Given the description of an element on the screen output the (x, y) to click on. 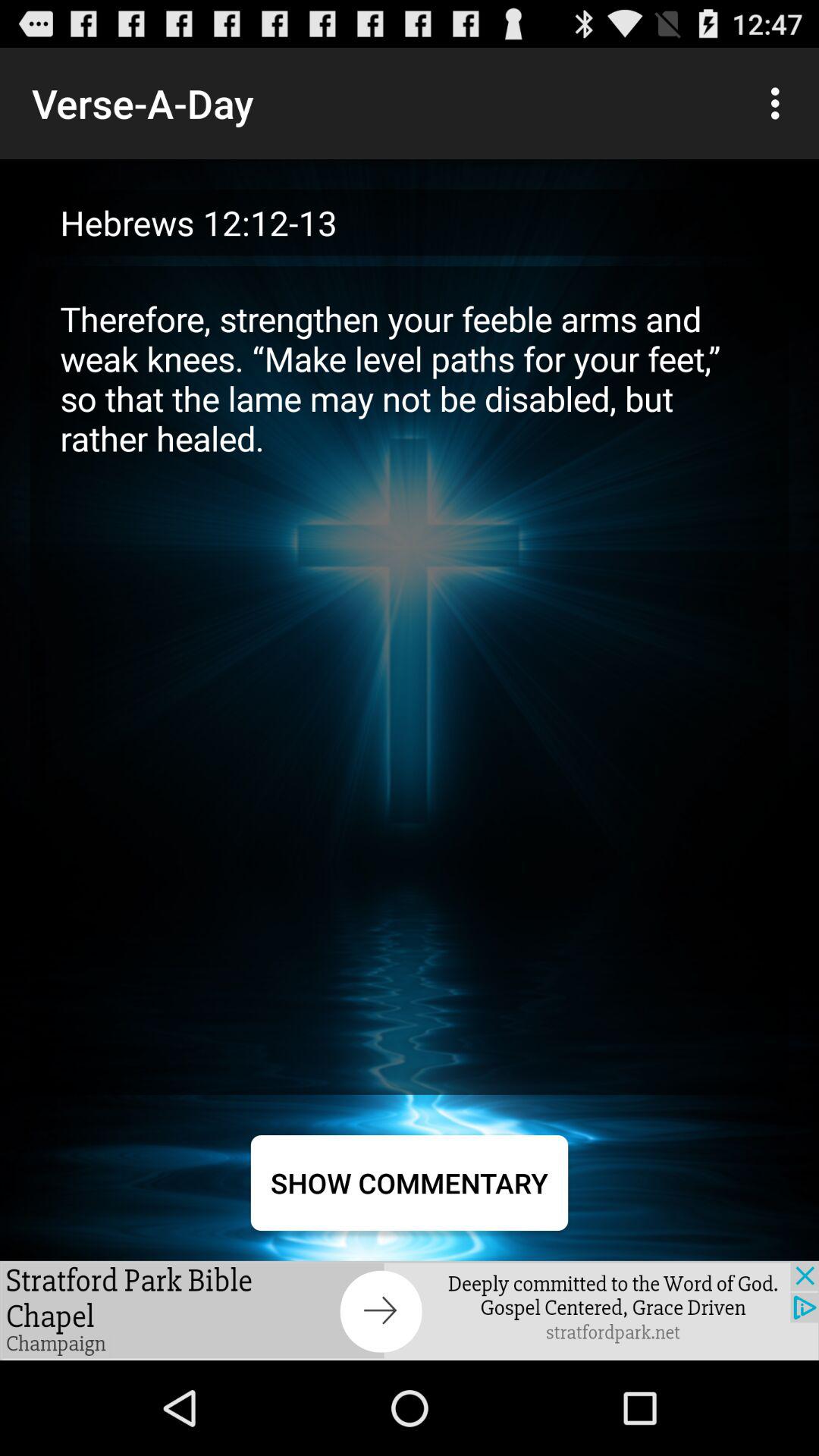
click the item below show commentary item (409, 1310)
